Given the description of an element on the screen output the (x, y) to click on. 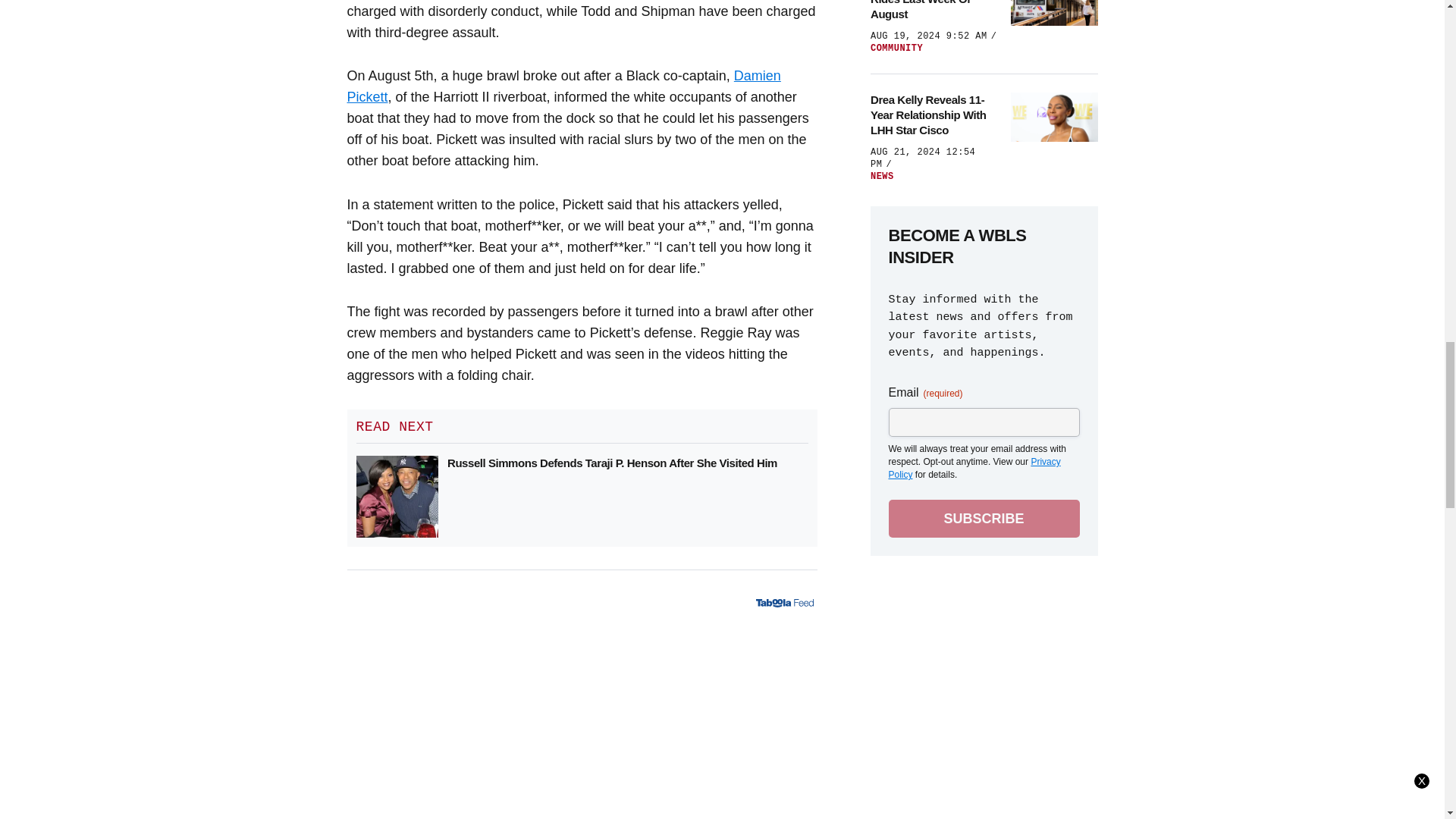
Subscribe (984, 518)
Damien Pickett (563, 85)
